Given the description of an element on the screen output the (x, y) to click on. 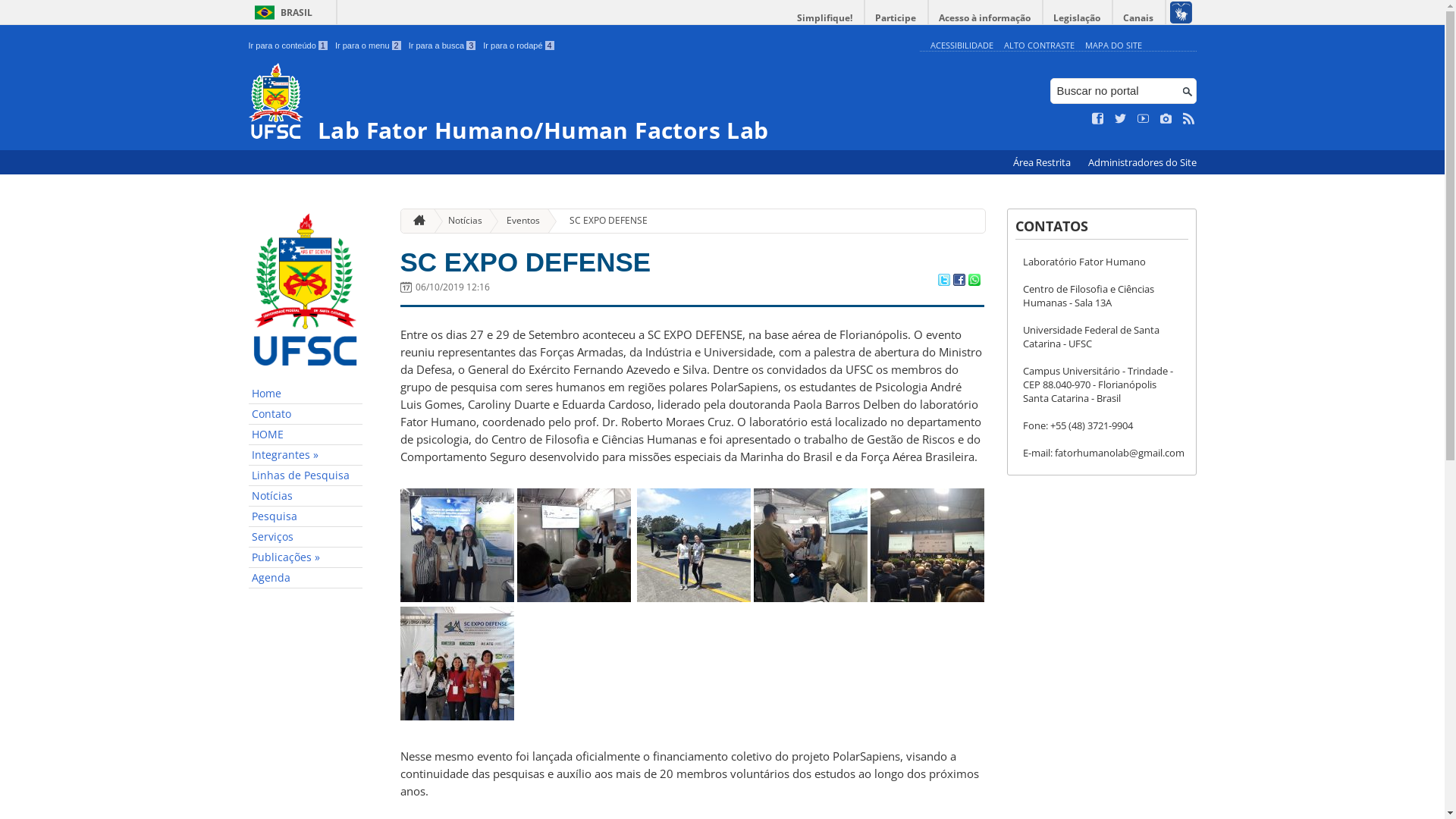
Compartilhar no WhatsApp Element type: hover (973, 280)
Curta no Facebook Element type: hover (1098, 118)
MAPA DO SITE Element type: text (1112, 44)
Pesquisa Element type: text (305, 516)
Siga no Twitter Element type: hover (1120, 118)
Compartilhar no Facebook Element type: hover (958, 280)
ALTO CONTRASTE Element type: text (1039, 44)
HOME Element type: text (305, 434)
Administradores do Site Element type: text (1141, 162)
Eventos Element type: text (517, 220)
Participe Element type: text (895, 18)
Linhas de Pesquisa Element type: text (305, 475)
Simplifique! Element type: text (825, 18)
Contato Element type: text (305, 414)
Veja no Instagram Element type: hover (1166, 118)
Compartilhar no Twitter Element type: hover (943, 280)
ACESSIBILIDADE Element type: text (960, 44)
Home Element type: text (305, 393)
SC EXPO DEFENSE Element type: text (602, 220)
Agenda Element type: text (305, 577)
Ir para o menu 2 Element type: text (368, 45)
SC EXPO DEFENSE Element type: text (525, 261)
BRASIL Element type: text (280, 12)
Canais Element type: text (1138, 18)
Ir para a busca 3 Element type: text (442, 45)
Lab Fator Humano/Human Factors Lab Element type: text (580, 102)
